Given the description of an element on the screen output the (x, y) to click on. 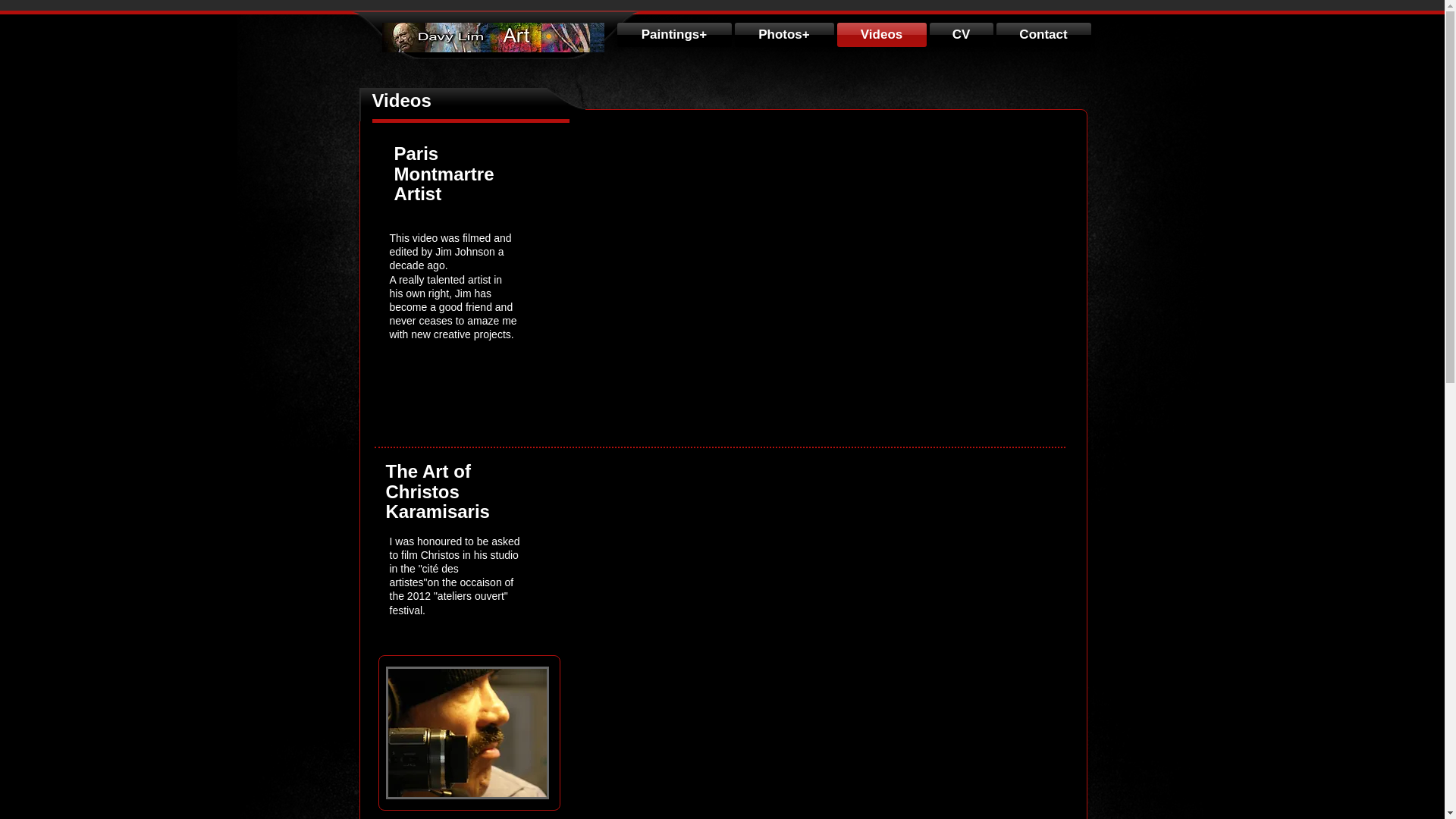
Contact (1042, 34)
CV (961, 34)
Videos (881, 34)
